Given the description of an element on the screen output the (x, y) to click on. 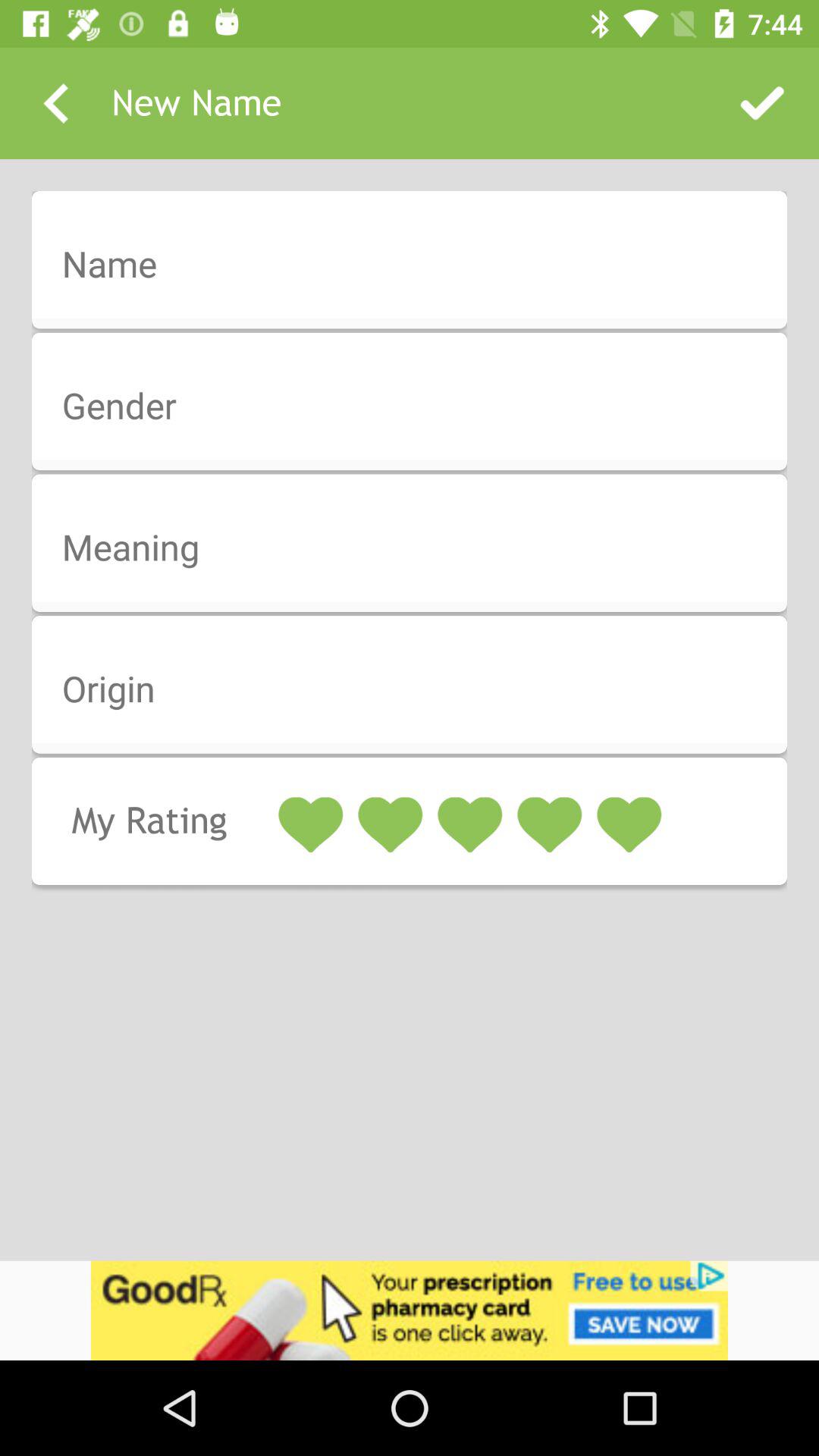
go back (55, 103)
